Given the description of an element on the screen output the (x, y) to click on. 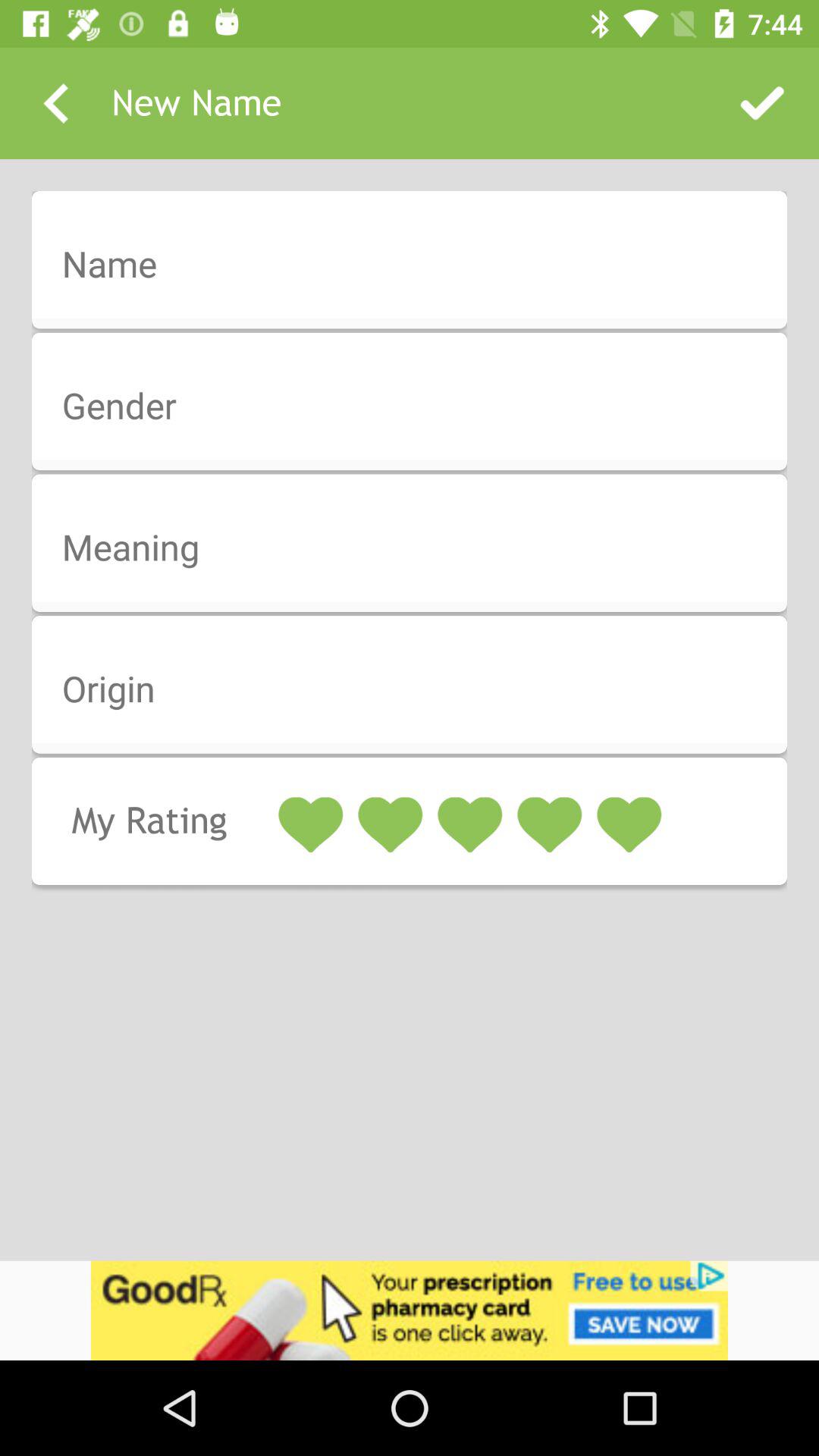
go back (55, 103)
